Given the description of an element on the screen output the (x, y) to click on. 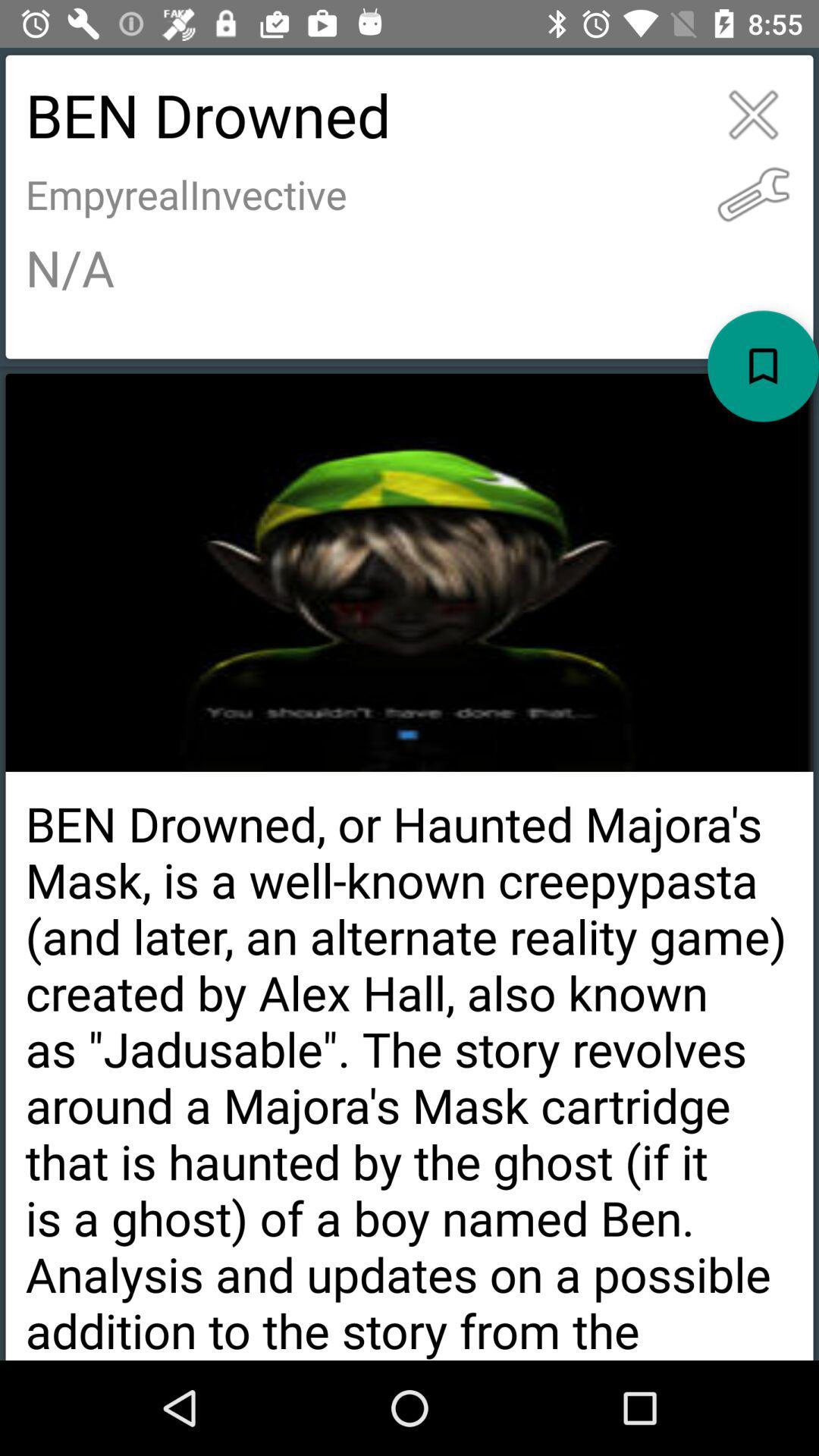
exit all (753, 114)
